Given the description of an element on the screen output the (x, y) to click on. 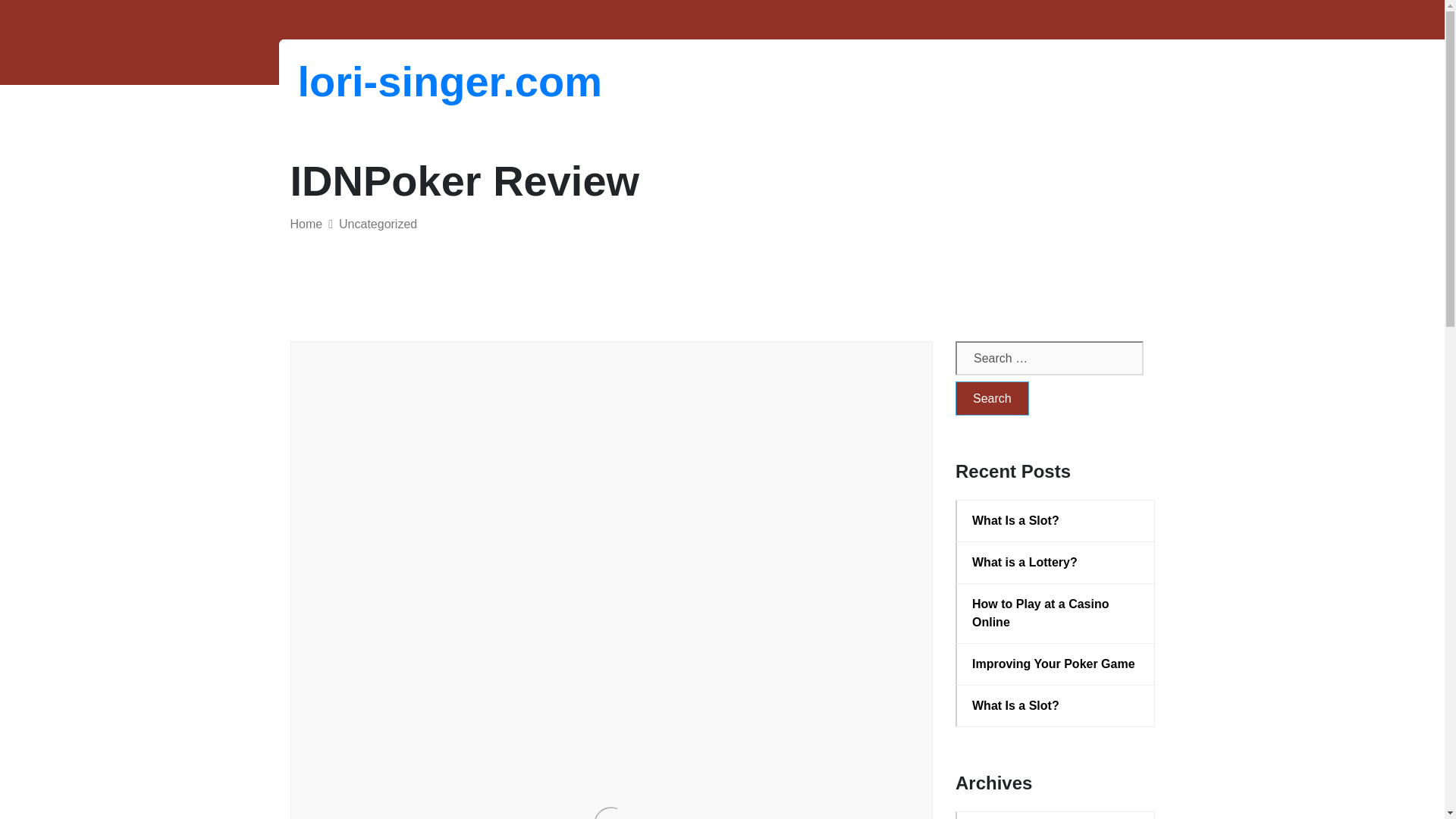
IDNPoker Review (438, 423)
Search (992, 398)
Search (992, 398)
lori-singer.com (376, 81)
What is a Lottery? (1055, 562)
Search (992, 398)
Uncategorized (377, 223)
What Is a Slot? (1055, 705)
What Is a Slot? (1055, 520)
How to Play at a Casino Online (1055, 613)
